Given the description of an element on the screen output the (x, y) to click on. 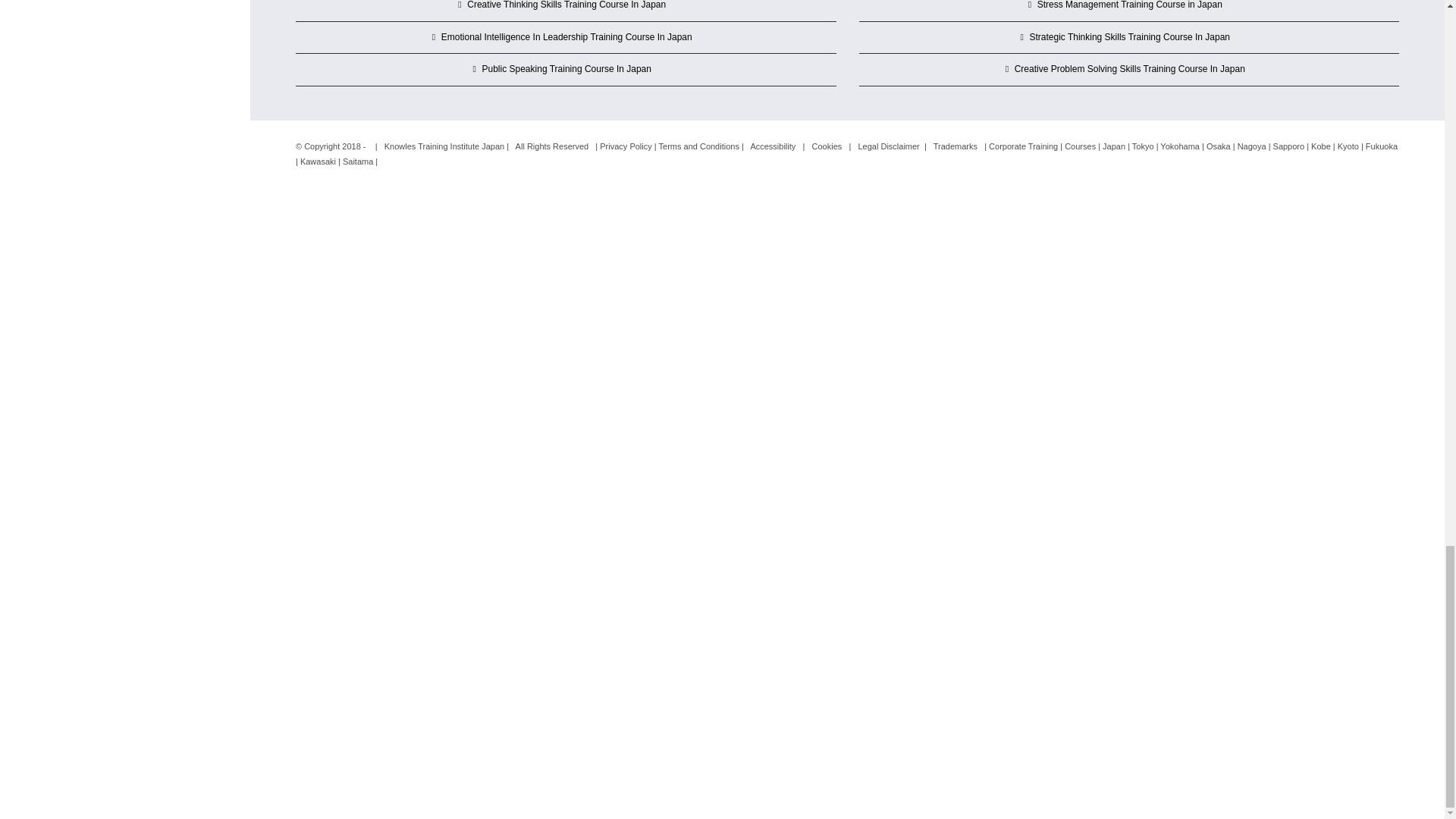
Public Speaking Training Course In Japan (566, 69)
Accessibility (771, 145)
Stress Management Training Course in Japan (1129, 6)
Creative Thinking Skills Training Course In Japan (566, 6)
Knowles Training Institute Japan (443, 145)
Strategic Thinking Skills Training Course In Japan (1129, 37)
Creative Problem Solving Skills Training Course In Japan (1129, 69)
Privacy Policy (624, 145)
Cookies (827, 145)
Terms and Conditions (699, 145)
